Given the description of an element on the screen output the (x, y) to click on. 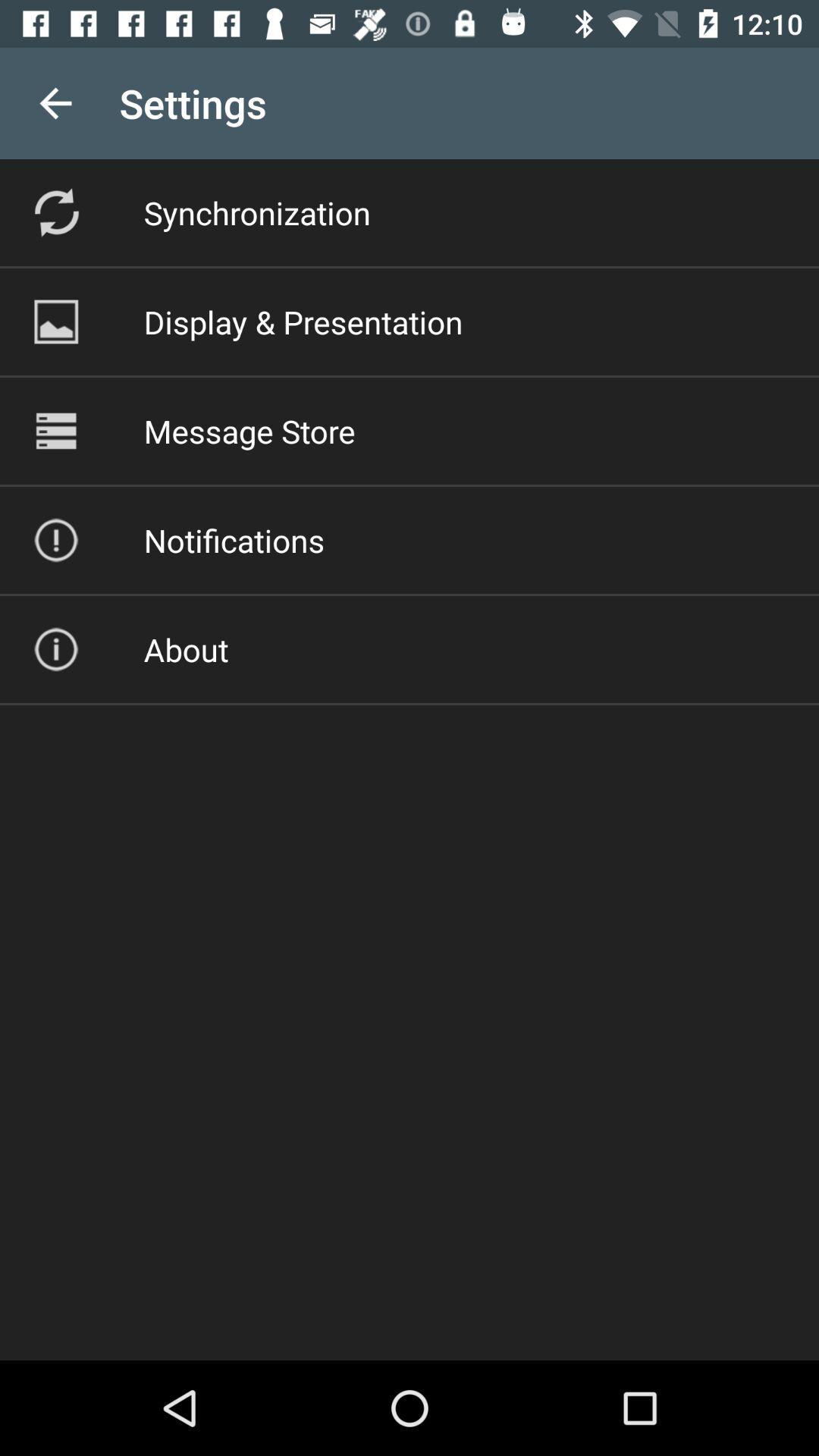
tap icon below the notifications icon (185, 649)
